Given the description of an element on the screen output the (x, y) to click on. 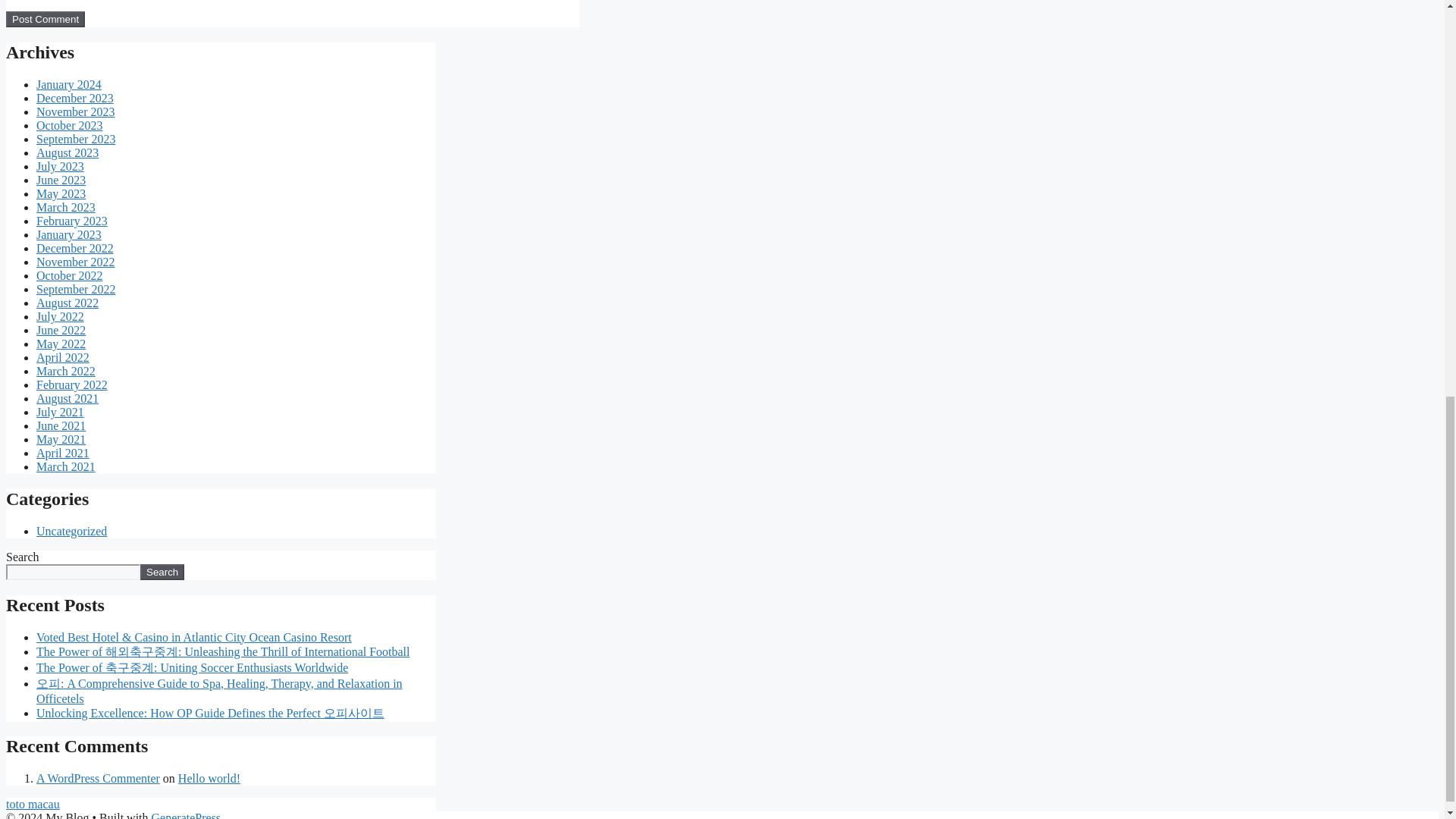
December 2023 (74, 97)
September 2022 (75, 288)
July 2022 (60, 316)
March 2023 (66, 206)
November 2023 (75, 111)
October 2022 (69, 275)
July 2023 (60, 165)
November 2022 (75, 261)
April 2021 (62, 452)
December 2022 (74, 247)
